Given the description of an element on the screen output the (x, y) to click on. 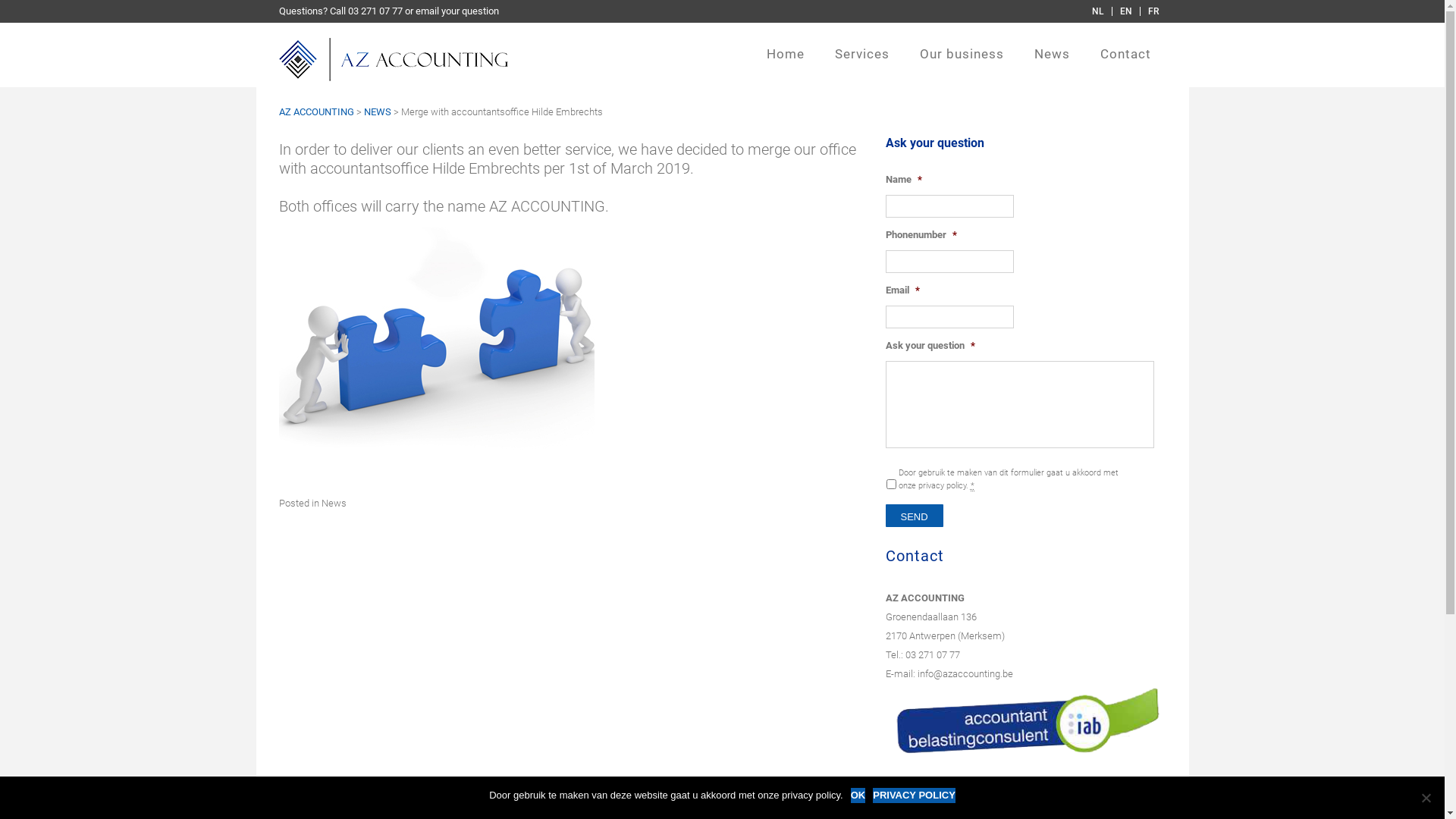
Send Element type: text (914, 515)
OK Element type: text (858, 795)
Home Element type: text (784, 62)
AZ ACCOUNTING Element type: text (316, 111)
info@azaccounting.be Element type: text (965, 673)
News Element type: text (333, 502)
PRIVACY POLICY Element type: text (913, 795)
Contact Element type: text (1124, 62)
No Element type: hover (1425, 797)
03 271 07 77 Element type: text (932, 654)
AZ ACCOUNTING Element type: hover (393, 62)
Services Element type: text (861, 62)
Our business Element type: text (961, 62)
or email your question Element type: text (451, 10)
News Element type: text (1052, 62)
Groenendaallaan 136
2170 Antwerpen (Merksem) Element type: text (944, 626)
NEWS Element type: text (377, 111)
